Given the description of an element on the screen output the (x, y) to click on. 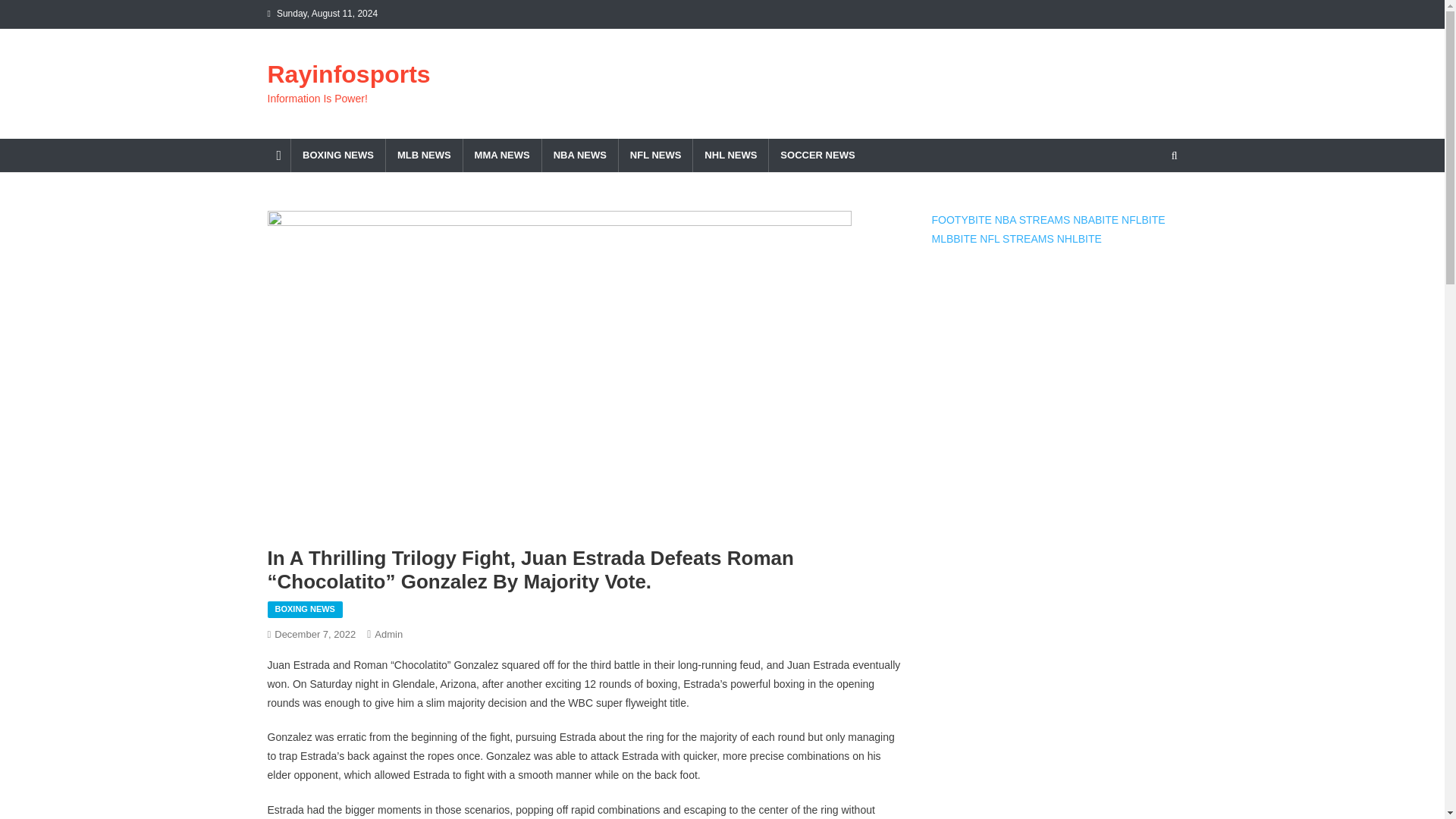
Rayinfosports (347, 73)
BOXING NEWS (304, 609)
Search (1145, 207)
NFL STREAMS (1016, 238)
FOOTYBITE (961, 219)
BOXING NEWS (337, 154)
NFLBITE (1143, 219)
Admin (388, 633)
NFL NEWS (655, 154)
NBA STREAMS (1032, 219)
